Given the description of an element on the screen output the (x, y) to click on. 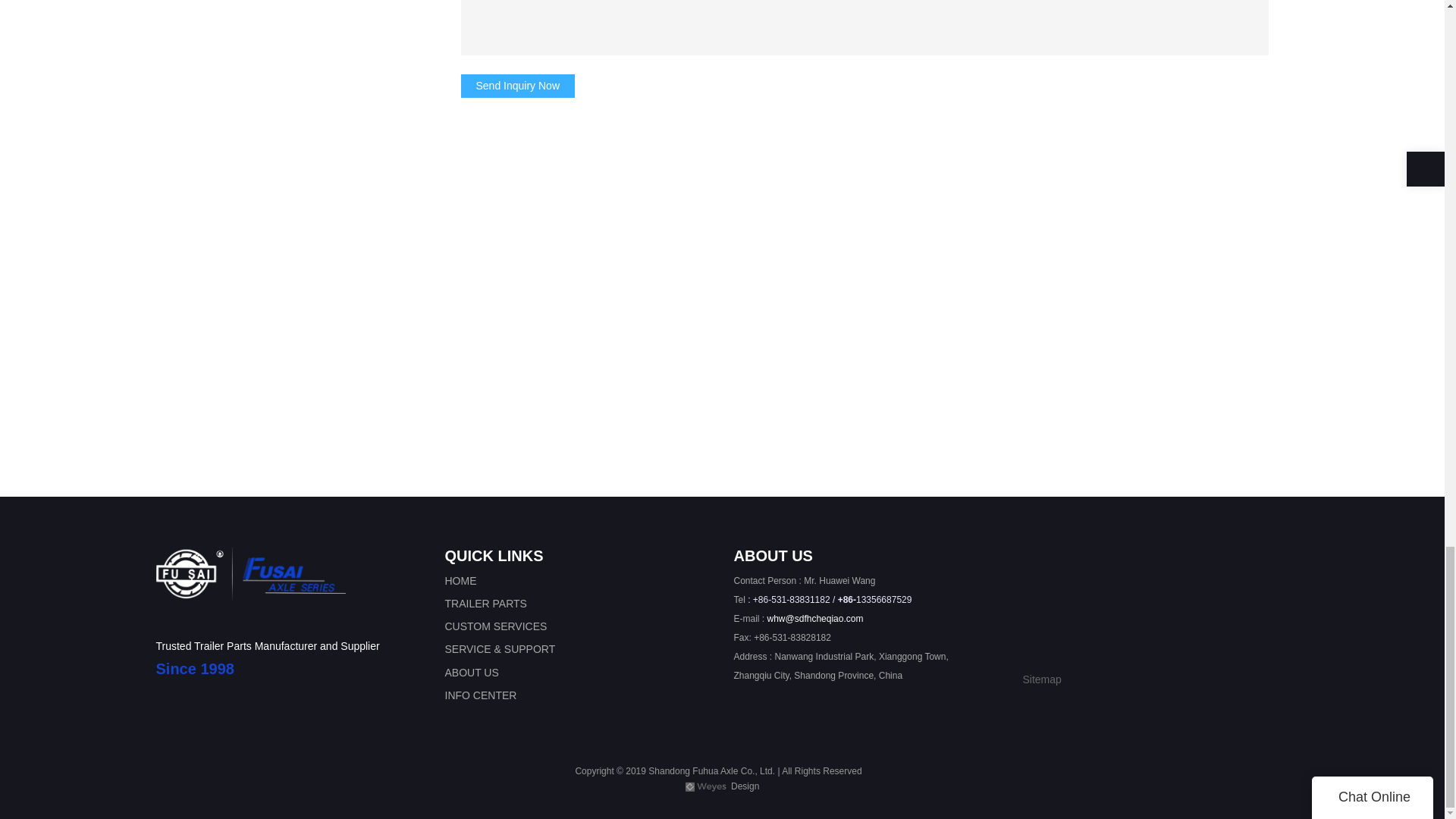
Send Inquiry Now (518, 86)
